Given the description of an element on the screen output the (x, y) to click on. 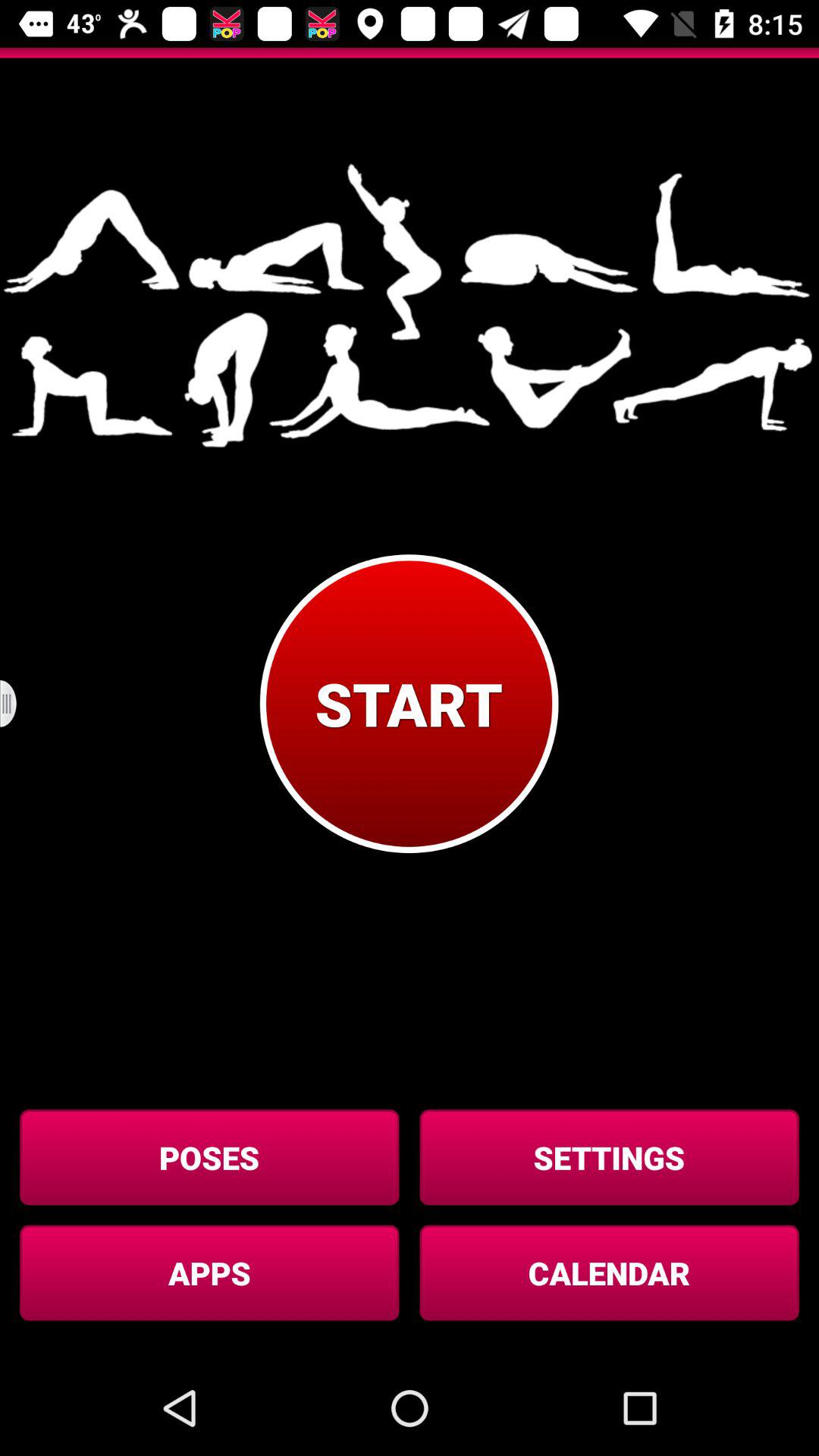
press icon next to the poses icon (609, 1157)
